Given the description of an element on the screen output the (x, y) to click on. 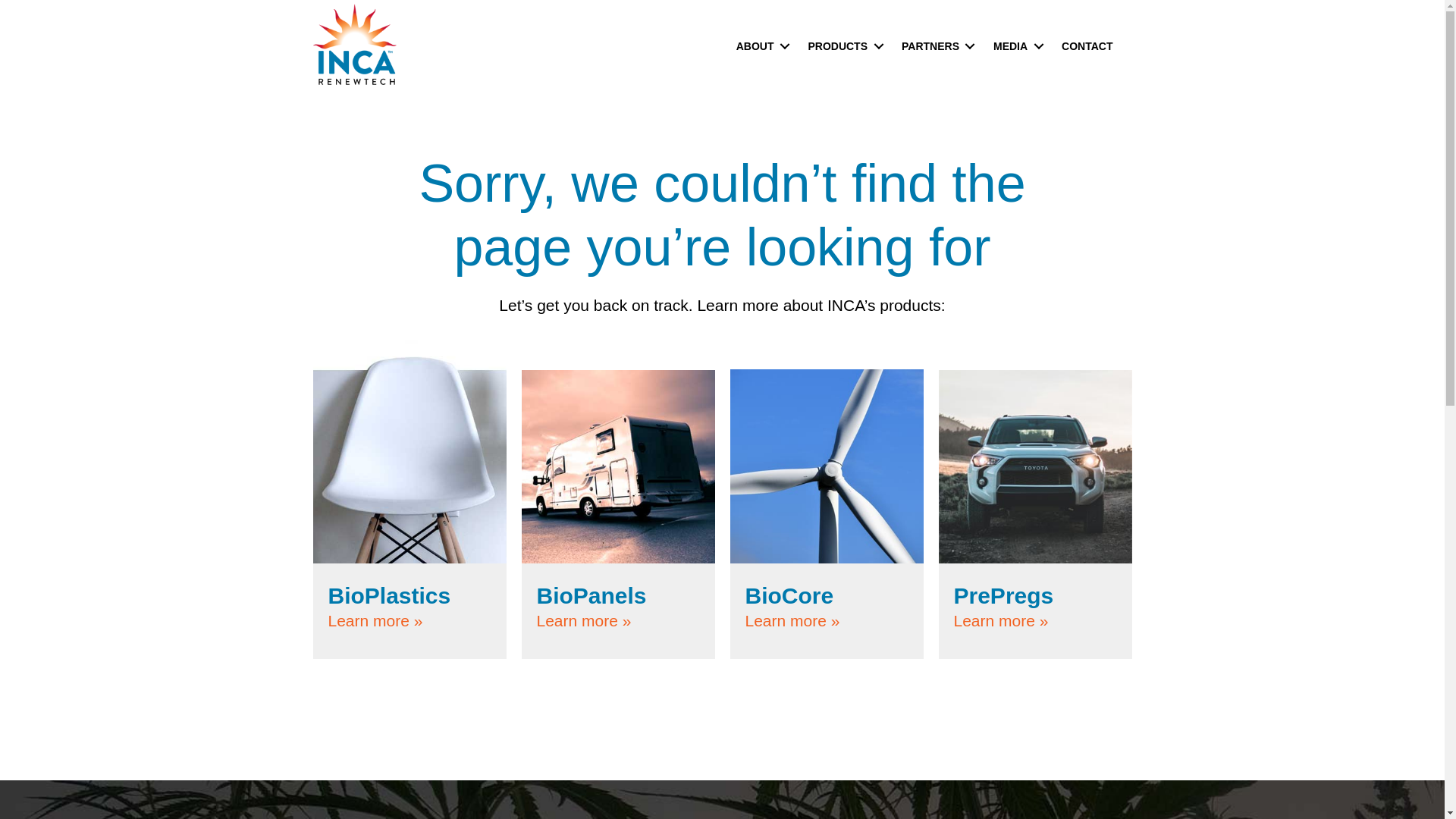
BioPanels (591, 595)
BioCore (788, 595)
ABOUT (760, 45)
PrePregs (1003, 595)
BioPlastics (388, 595)
PRODUCTS (842, 45)
MEDIA (1015, 45)
CONTACT (1086, 45)
PARTNERS (935, 45)
